Given the description of an element on the screen output the (x, y) to click on. 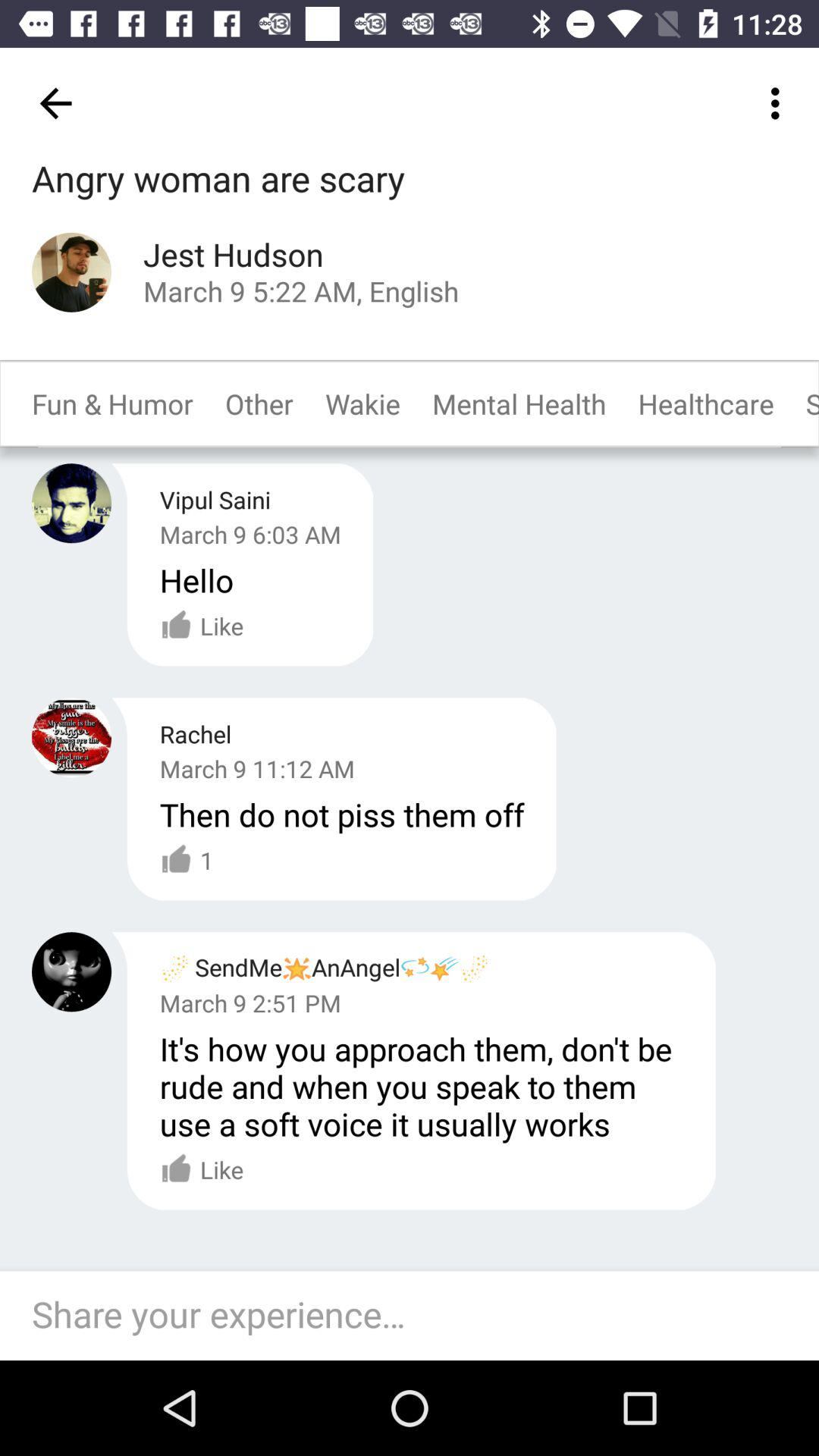
turn on icon above angry woman are (55, 103)
